Given the description of an element on the screen output the (x, y) to click on. 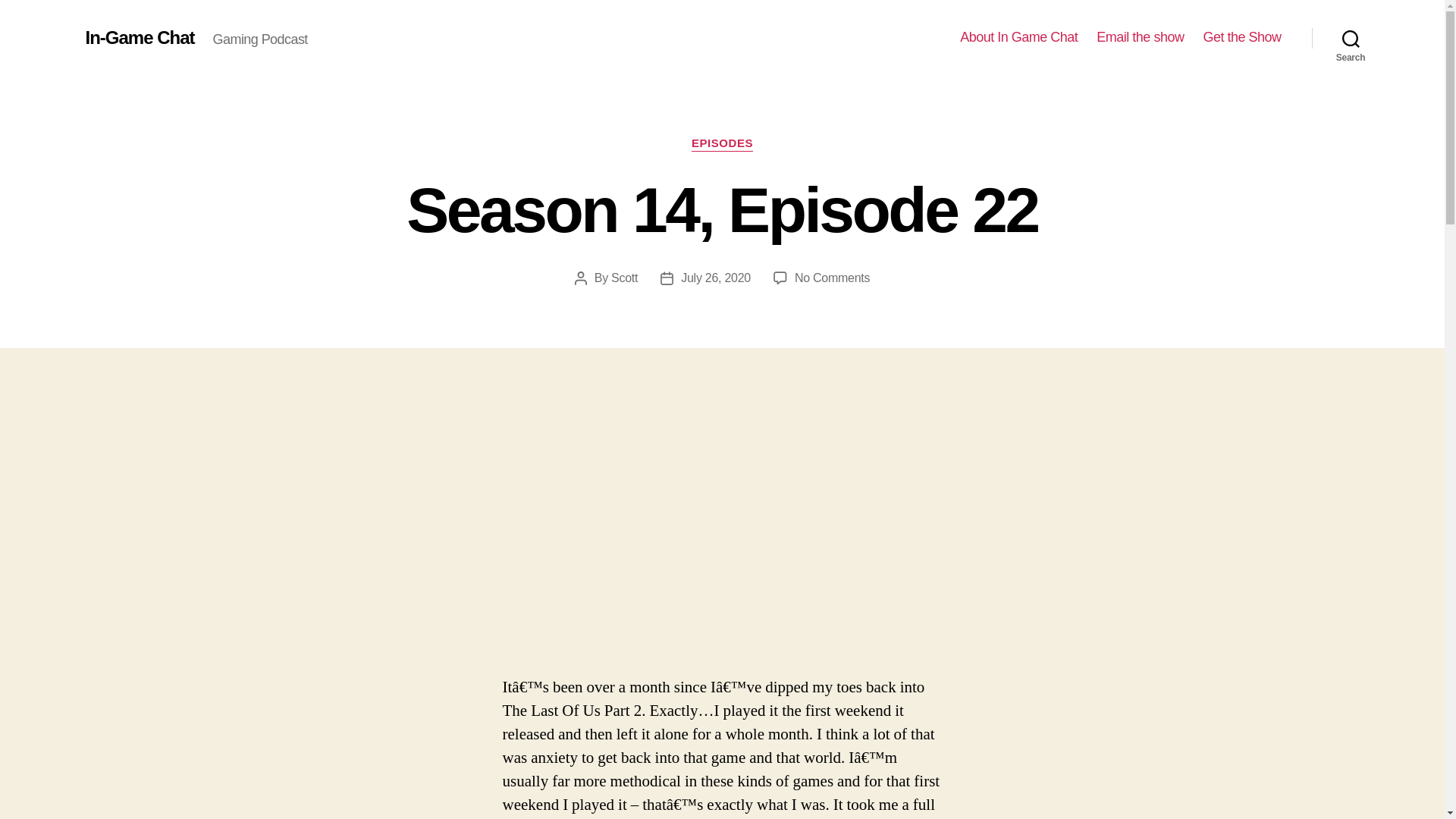
In-Game Chat: Season 14, Episode 22 (722, 532)
Email the show (1139, 37)
Get the Show (1241, 37)
Scott (624, 277)
July 26, 2020 (716, 277)
Search (1350, 37)
About In Game Chat (1018, 37)
EPISODES (831, 277)
In-Game Chat (721, 143)
